Given the description of an element on the screen output the (x, y) to click on. 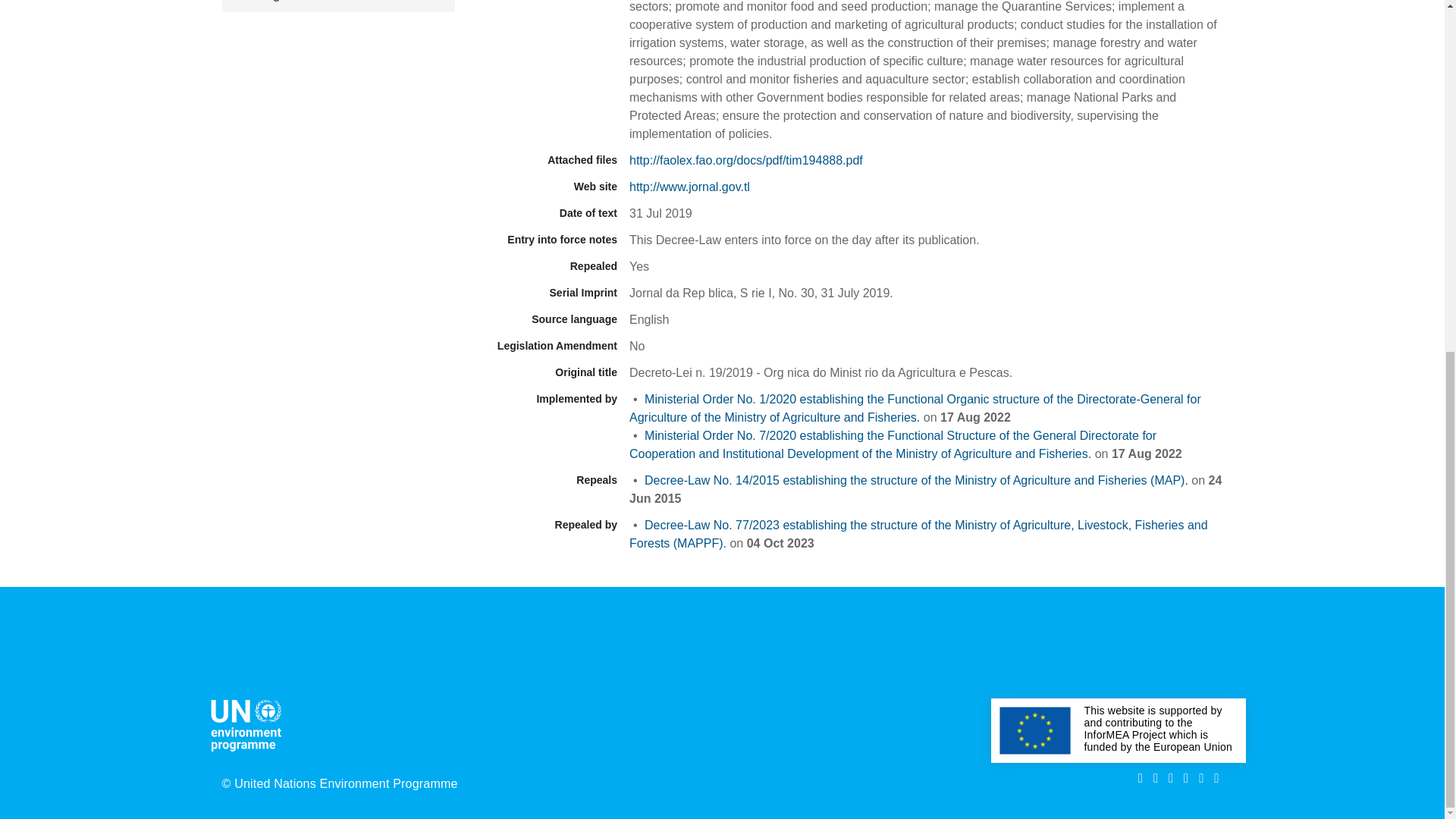
Click to read this legislation (918, 533)
Click to read this legislation (916, 480)
Click to read this legislation (914, 408)
Home (248, 723)
Click to read this legislation (892, 444)
